Given the description of an element on the screen output the (x, y) to click on. 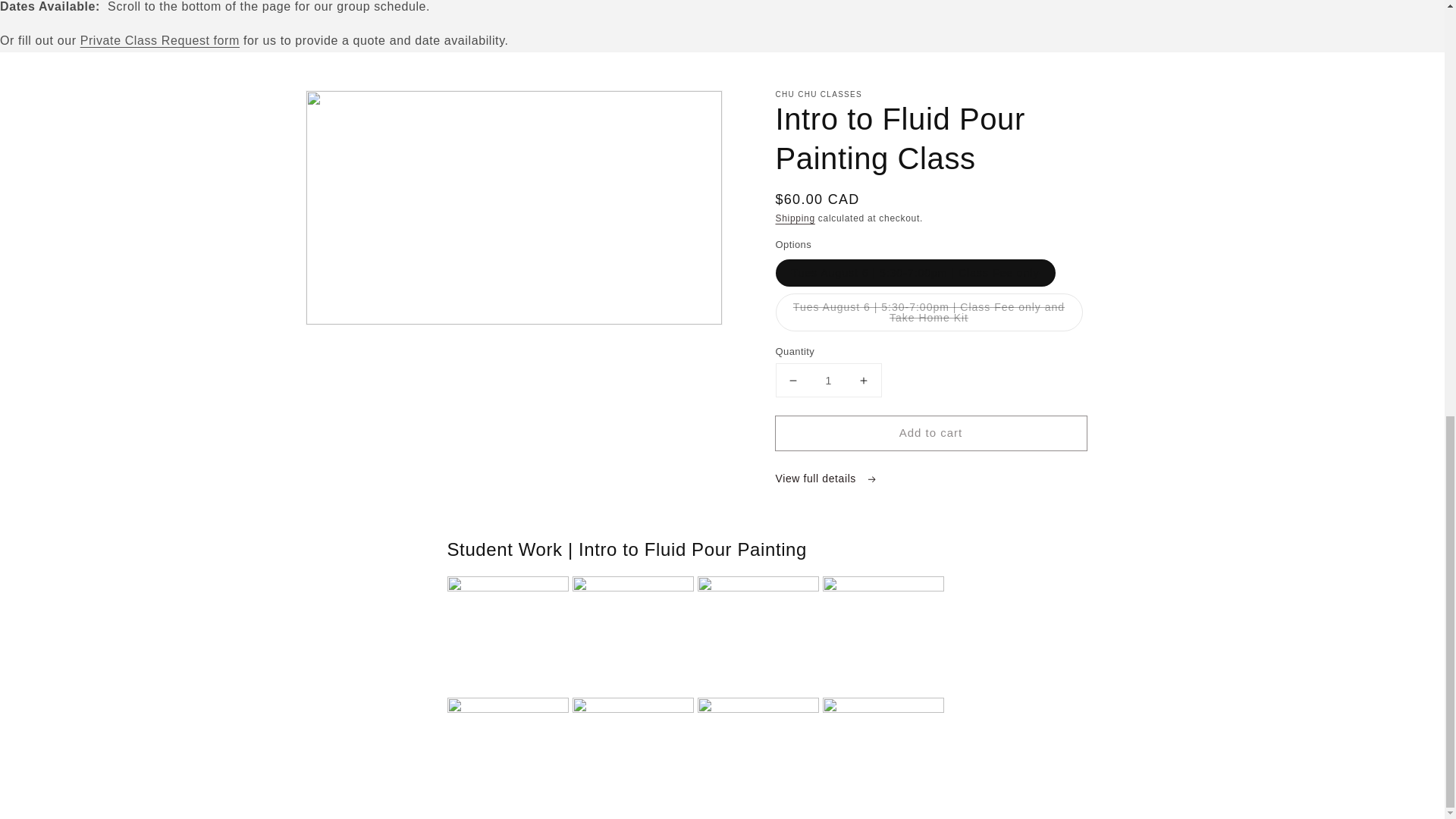
Chu Chu Classes Intro to Fluid Pour Painting (509, 586)
Chu Chu Classes Intro to Fluid Pour Painting (509, 707)
Chu Chu Classes Intro to Fluid Pour Painting (759, 707)
Intro to Fluid Pour Painting (634, 707)
Chu Chu Classes Intro to Fluid Pour Painting (884, 586)
Chu Chu Classes Intro to Fluid Pour Painting (759, 586)
Chu Chu Classes Intro to Fluid Pour Painting (884, 707)
Chu Chu Classes Intro to Fluid Pour Painting (634, 586)
1 (827, 379)
